Given the description of an element on the screen output the (x, y) to click on. 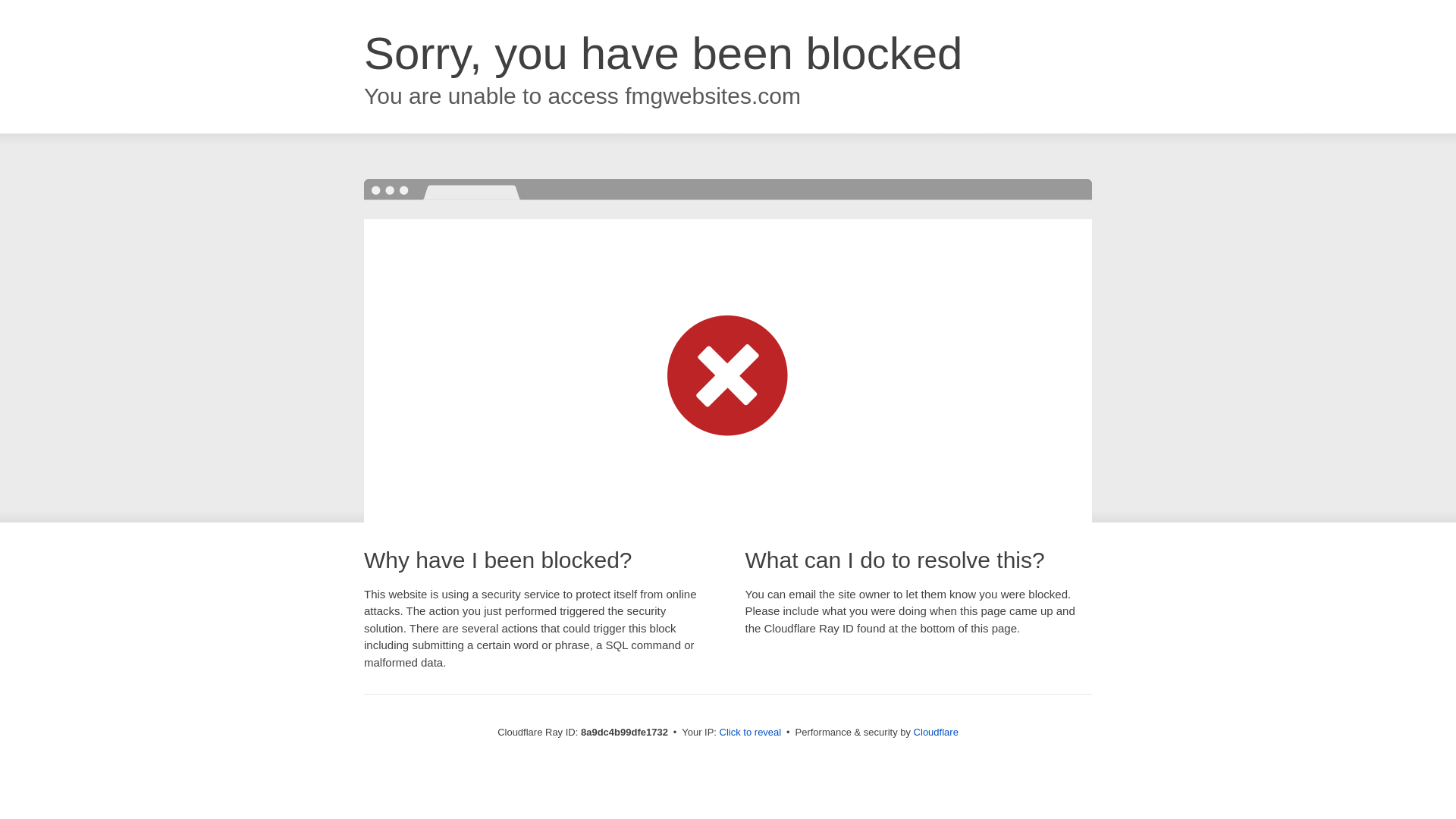
Cloudflare (936, 731)
Click to reveal (750, 732)
